Given the description of an element on the screen output the (x, y) to click on. 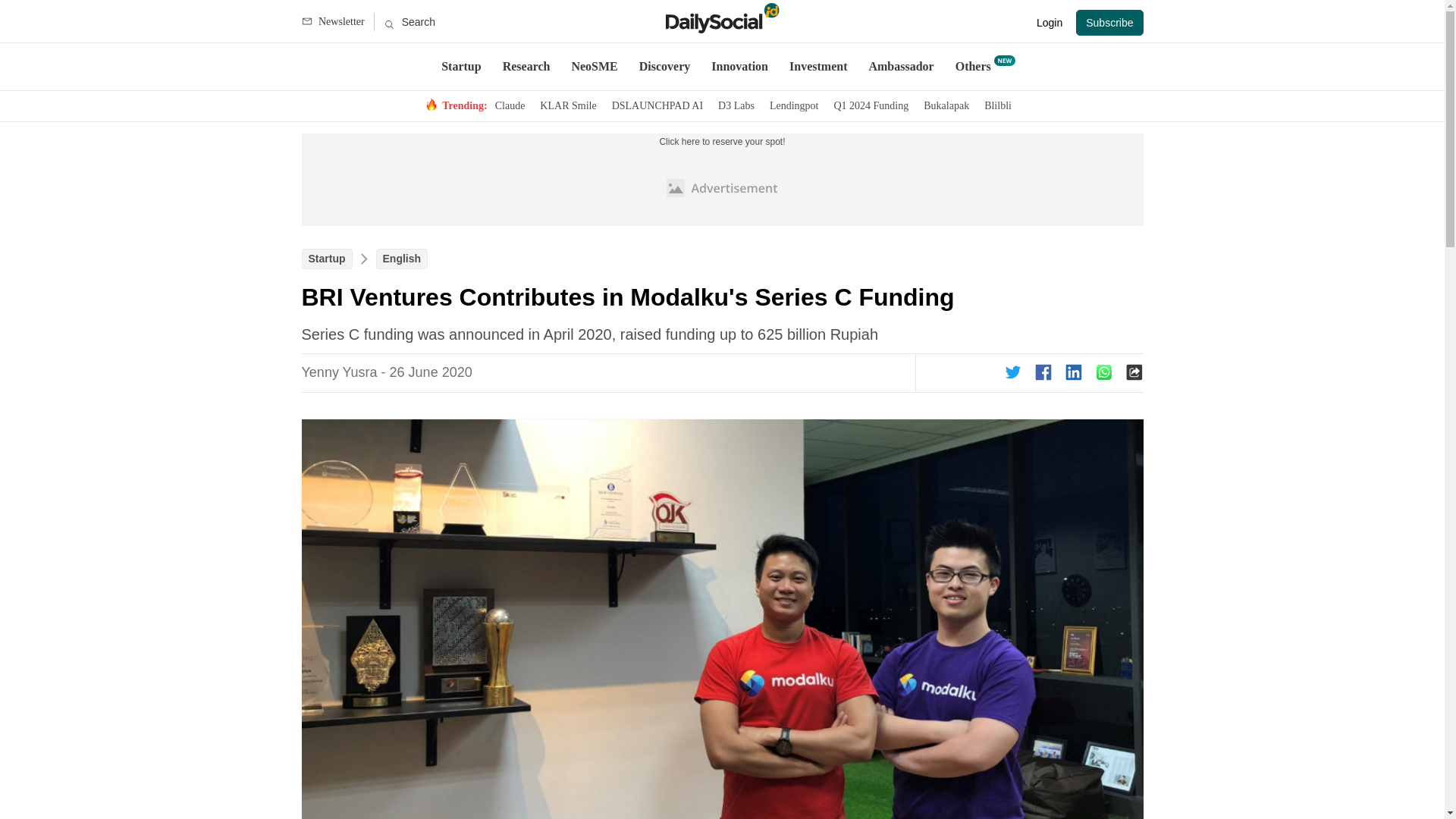
Share this article (1103, 371)
Newsletter (337, 22)
Share this article (1073, 371)
Share this article (1042, 371)
Share this article (1013, 371)
